Given the description of an element on the screen output the (x, y) to click on. 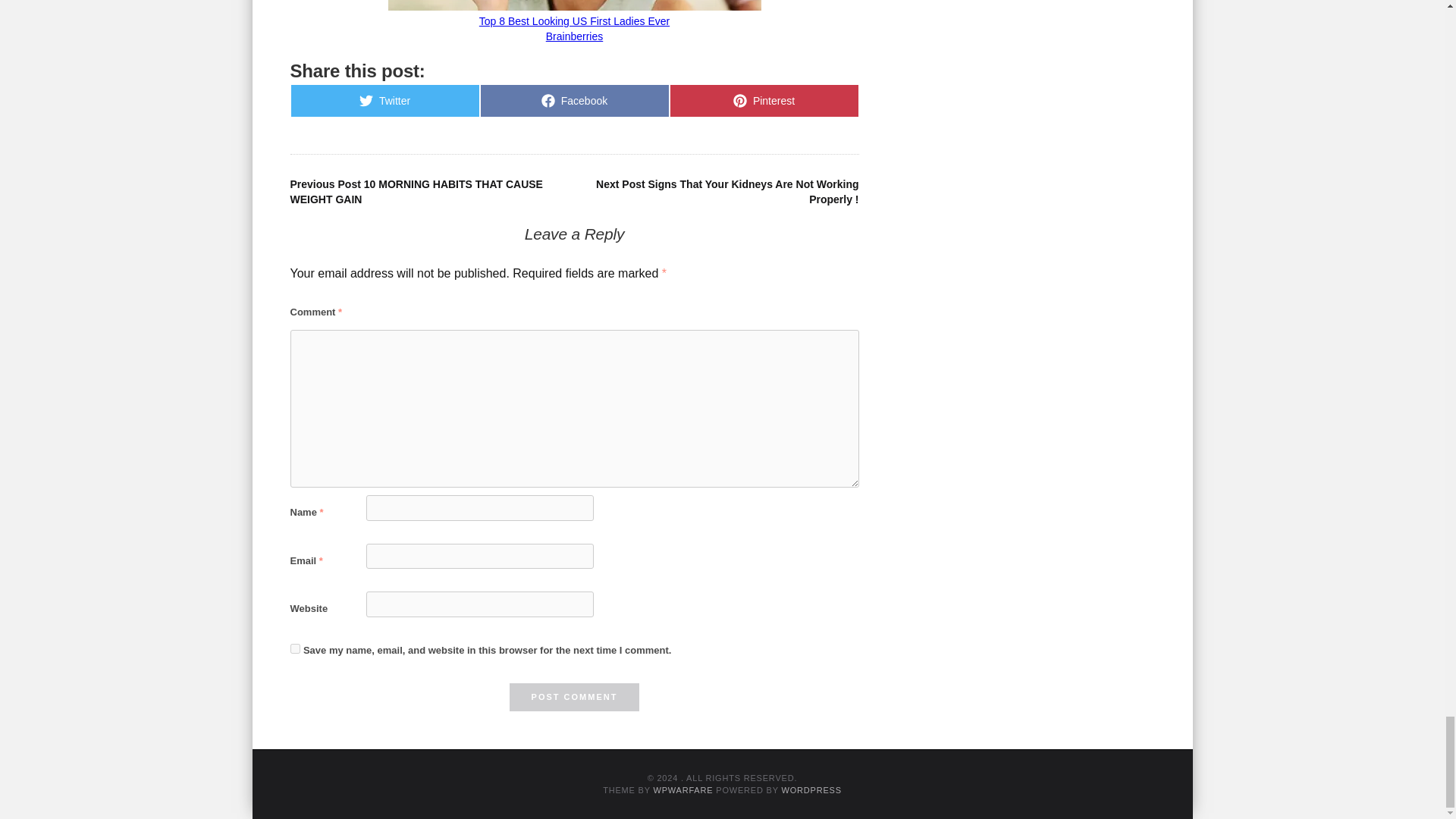
Next Post Signs That Your Kidneys Are Not Working Properly ! (727, 191)
WPWARFARE (682, 789)
Previous Post 10 MORNING HABITS THAT CAUSE WEIGHT GAIN (763, 100)
Post Comment (384, 100)
yes (415, 191)
WORDPRESS (574, 697)
Post Comment (294, 648)
